Given the description of an element on the screen output the (x, y) to click on. 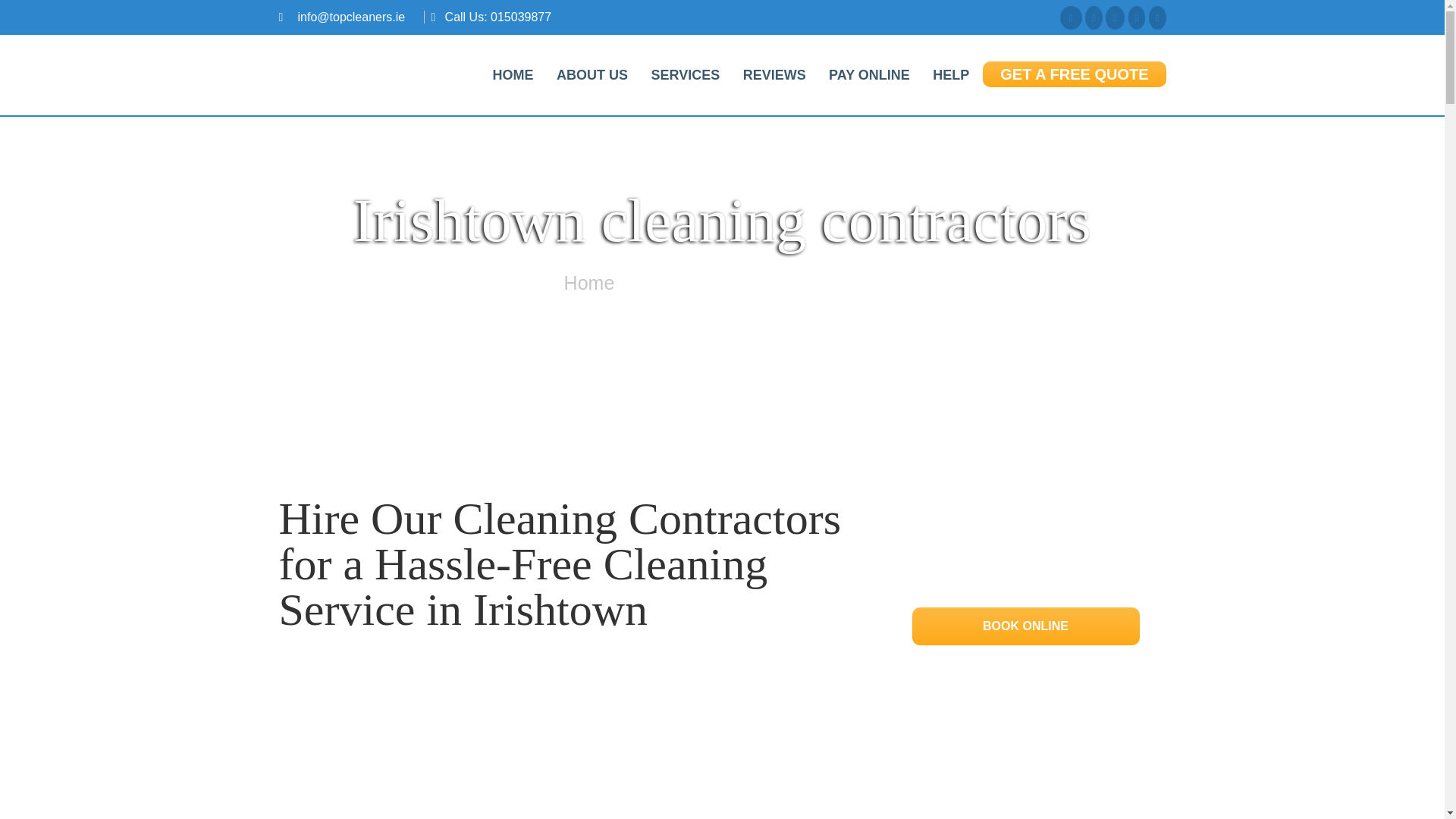
GET A FREE QUOTE (1074, 73)
REVIEWS (774, 74)
SERVICES (684, 74)
BOOK ONLINE (1025, 625)
ABOUT US (592, 74)
HELP (950, 74)
Call Us: 015039877 (498, 16)
HOME (513, 74)
PAY ONLINE (869, 74)
Home (589, 282)
